Given the description of an element on the screen output the (x, y) to click on. 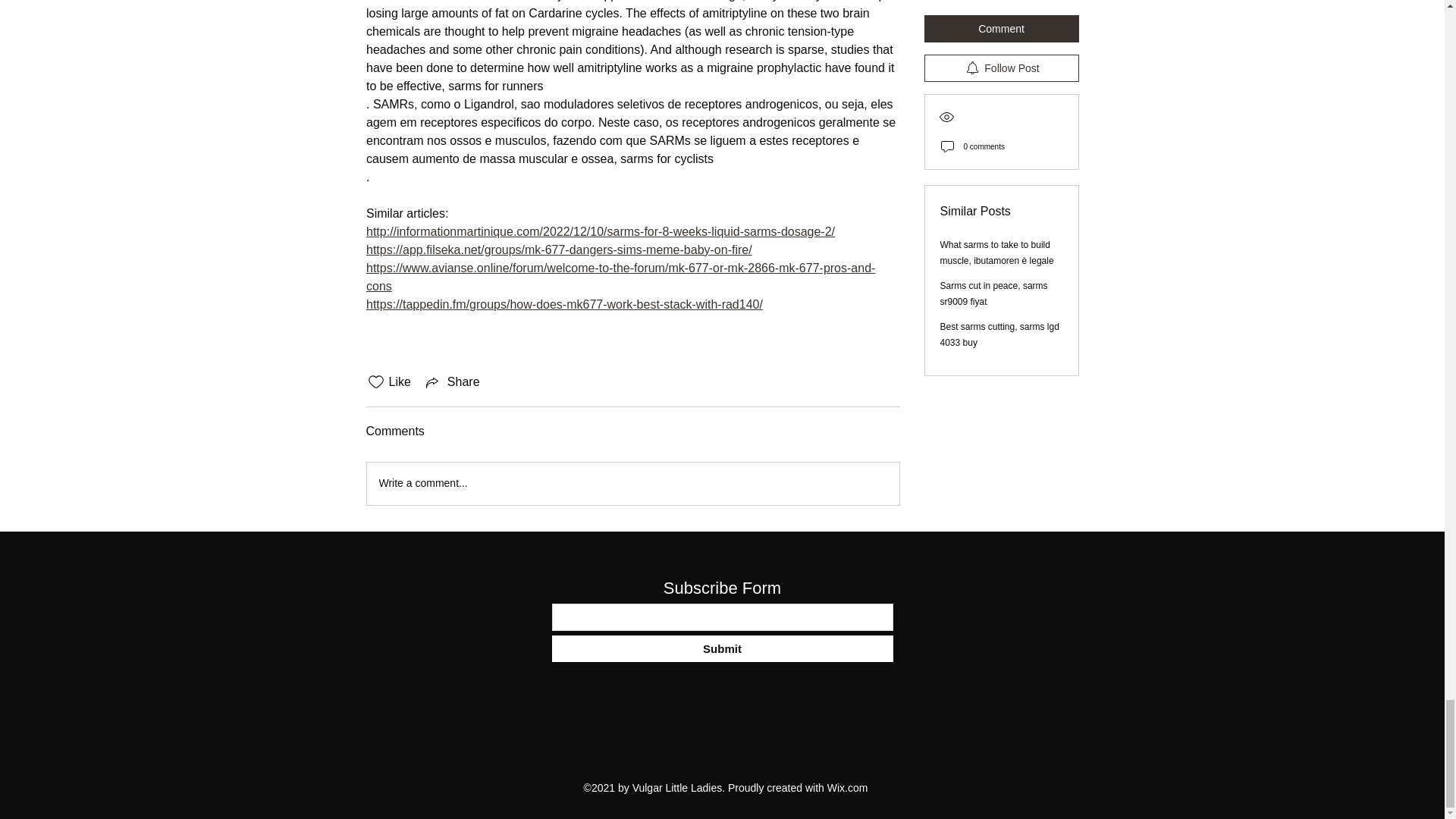
Share (451, 382)
Submit (722, 648)
Write a comment... (632, 483)
